Given the description of an element on the screen output the (x, y) to click on. 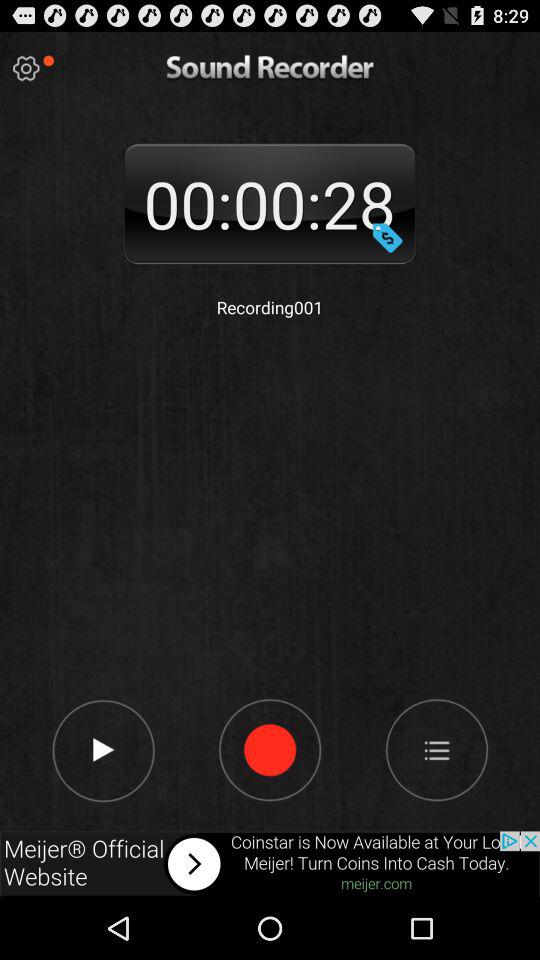
play button (102, 749)
